Given the description of an element on the screen output the (x, y) to click on. 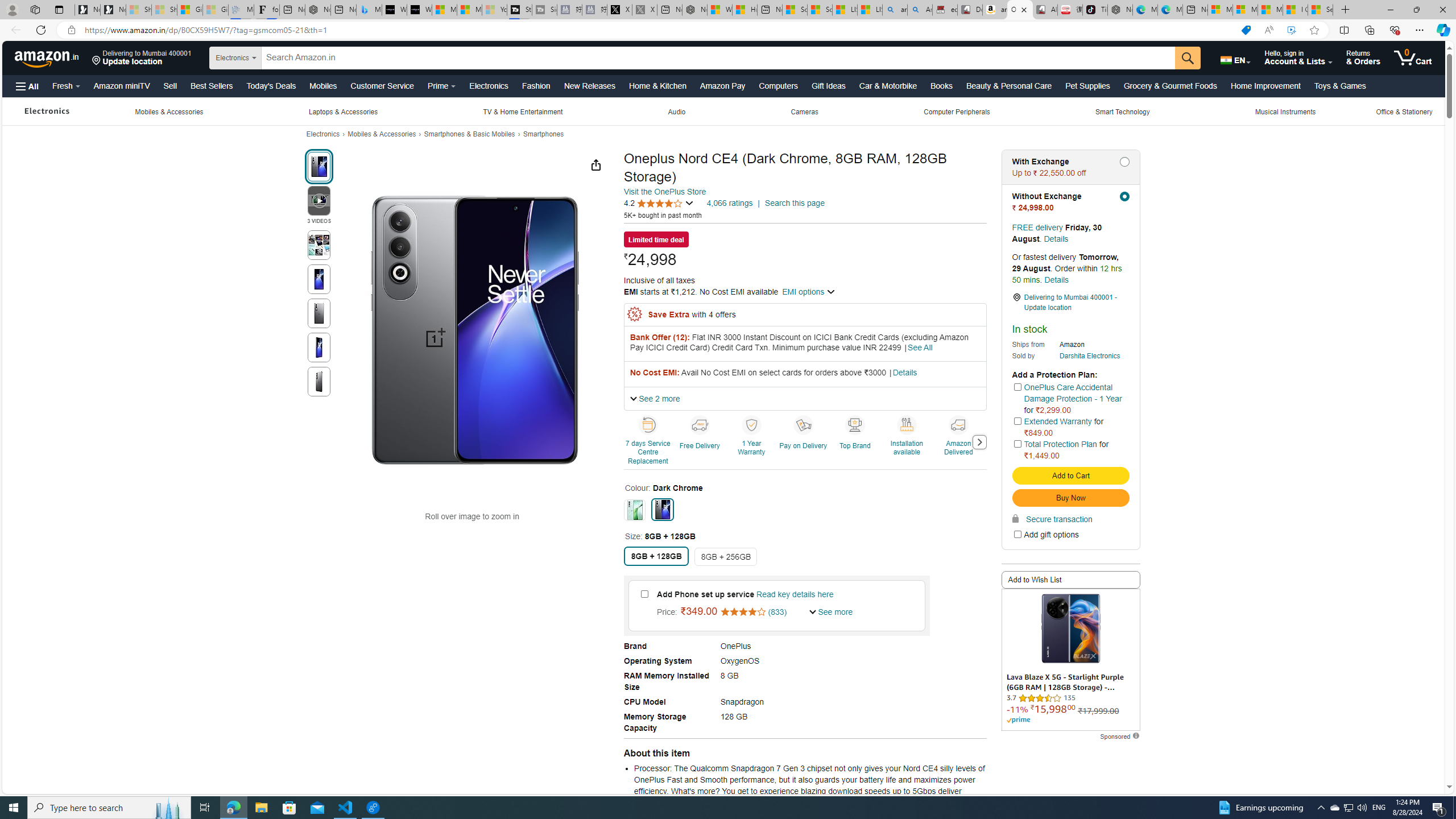
Gift Ideas (828, 85)
What's the best AI voice generator? - voice.ai (418, 9)
Enhance video (1291, 29)
Details (1055, 279)
Dark Chrome (662, 509)
Celadon Marble (634, 509)
Skip to main content (46, 56)
|Details (902, 373)
Secure transaction (1051, 519)
Toys & Games (1340, 85)
Next page (979, 441)
AutomationID: ppdb-add-service-checkbox (643, 593)
Share (595, 164)
